Given the description of an element on the screen output the (x, y) to click on. 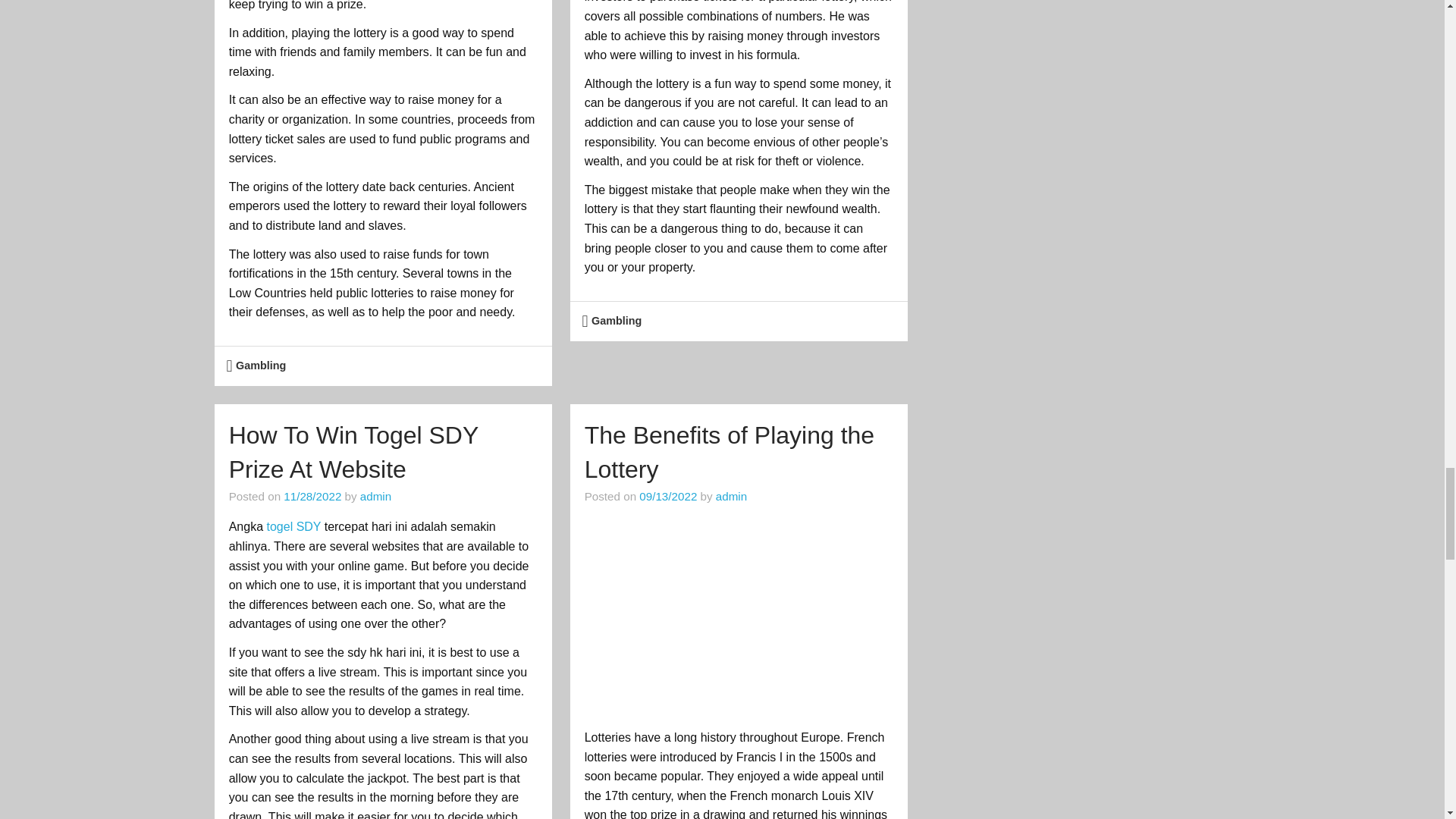
8:36 PM (311, 495)
Gambling (260, 365)
5:40 PM (668, 495)
View all posts by admin (375, 495)
View all posts by admin (731, 495)
Gambling (616, 320)
